Given the description of an element on the screen output the (x, y) to click on. 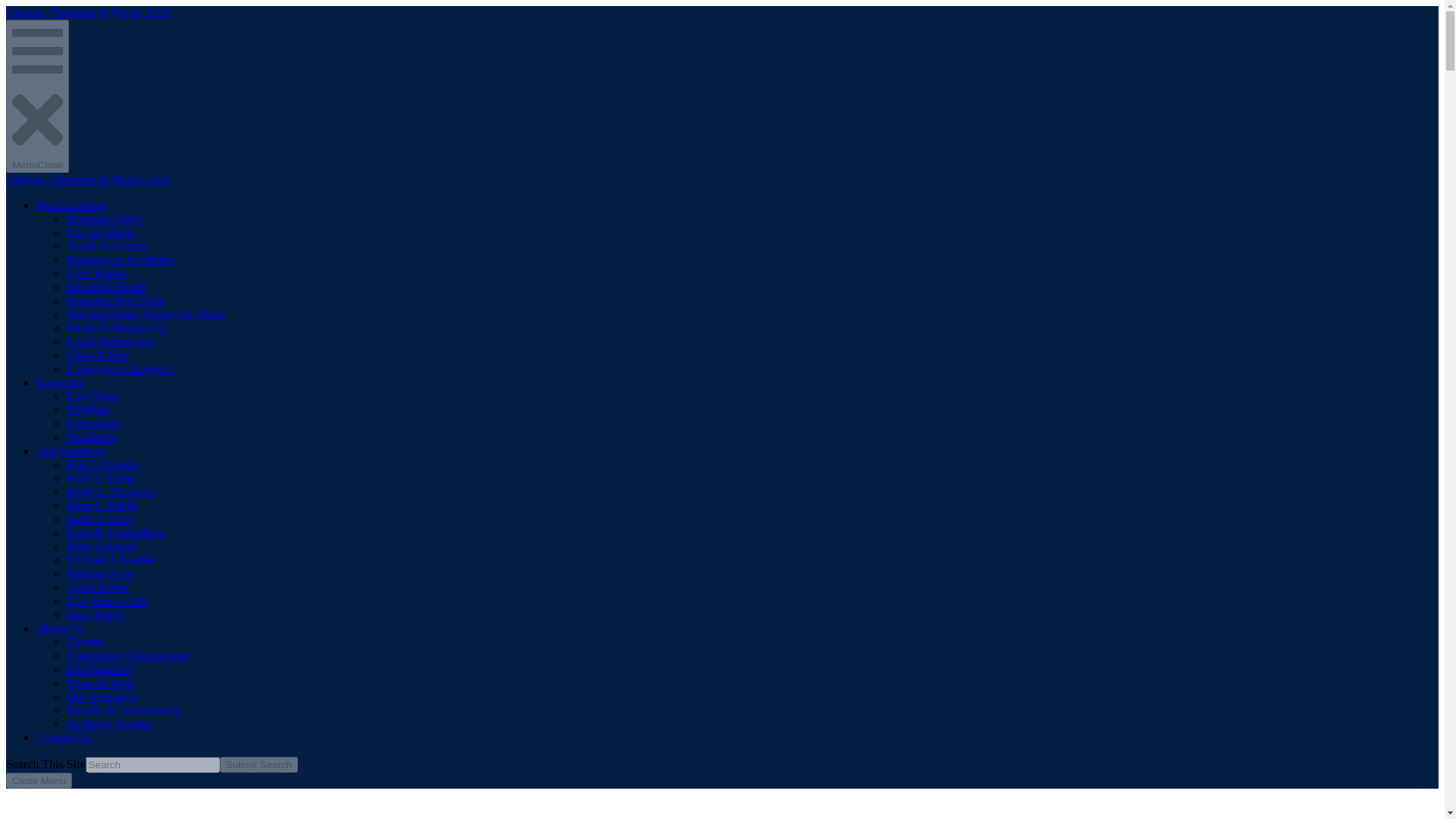
Practice Areas (71, 205)
Insurance Bad Faith (115, 300)
Truck Accidents (106, 245)
Waukesha (91, 436)
Class Action (97, 354)
Bob J. Gingras (102, 463)
Isaac Huettl (95, 614)
Motorcycle Accidents (119, 259)
Careers (84, 641)
Civil Rights (95, 273)
Kate Farnsworth (107, 600)
Madison (87, 409)
Legal Malpractice (110, 341)
Personal Injury (103, 218)
Eau Claire (91, 395)
